Given the description of an element on the screen output the (x, y) to click on. 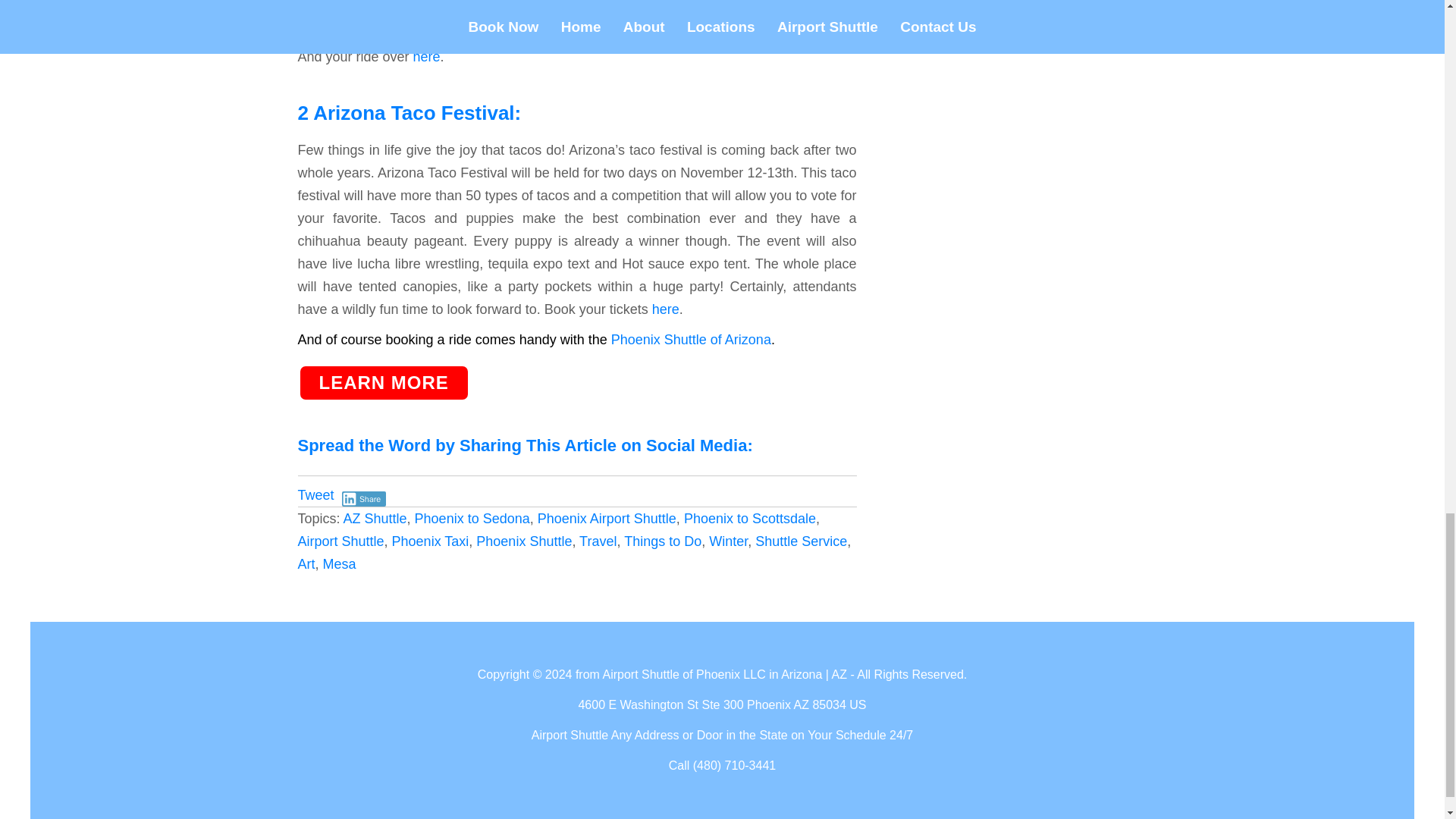
Phoenix Shuttle of Arizona (689, 339)
Shuttle Service (801, 540)
Check Airport Shuttle Rates (382, 382)
Mesa (339, 563)
Winter (728, 540)
LEARN MORE (382, 382)
Topic Name (728, 540)
Topic Name (339, 563)
Topic Name (340, 540)
Topic Name (524, 540)
Things to Do (662, 540)
4600 E Washington St Ste 300 (660, 704)
Phoenix to Scottsdale (749, 518)
here (506, 26)
here (665, 309)
